Given the description of an element on the screen output the (x, y) to click on. 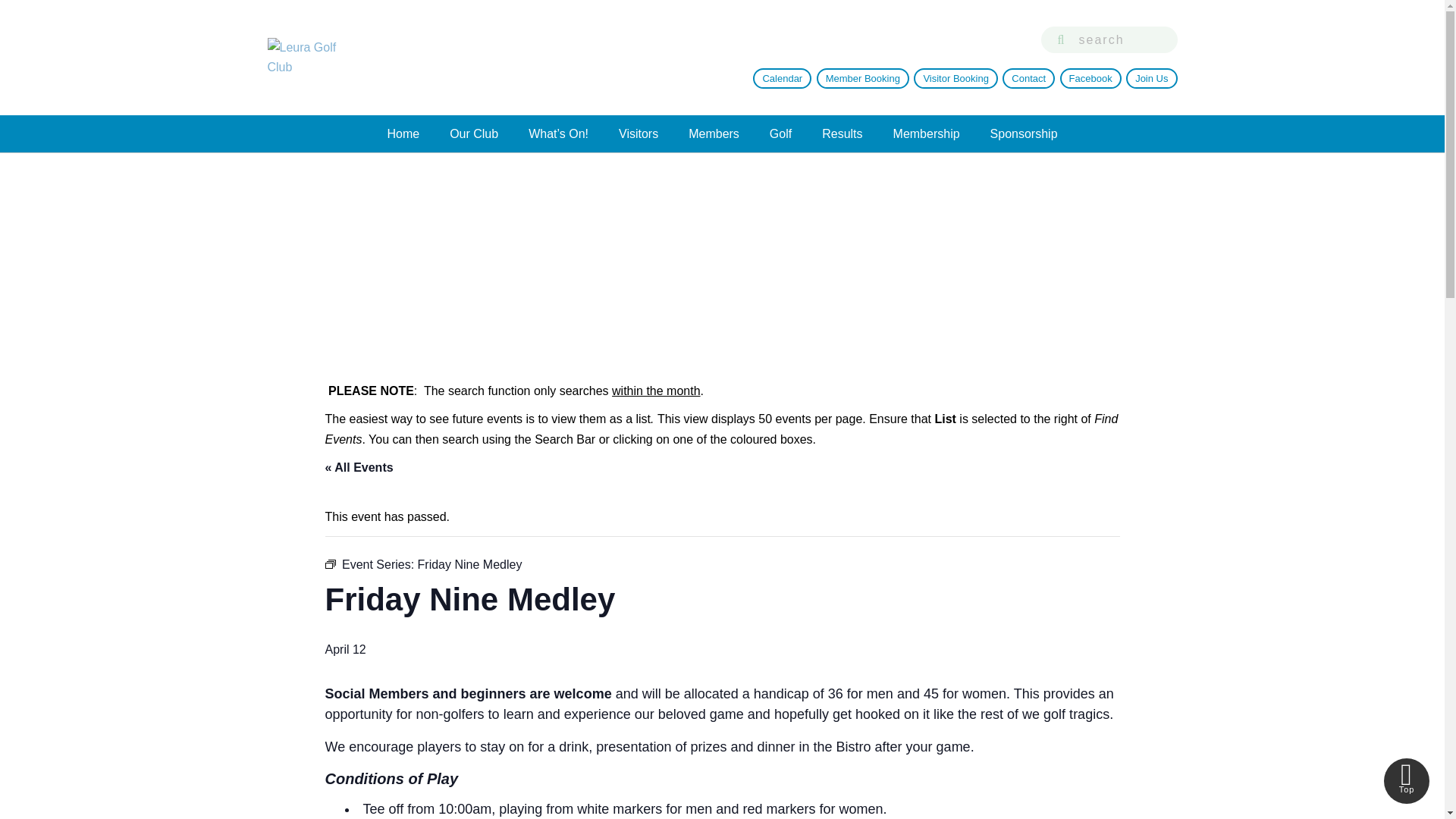
Golf (780, 133)
Contact (1028, 77)
Our Club (473, 133)
Member Booking (862, 77)
Visitor Booking (955, 77)
Home (402, 133)
Members (713, 133)
Visitors (638, 133)
Join Us (1150, 77)
Event Series (329, 563)
